Given the description of an element on the screen output the (x, y) to click on. 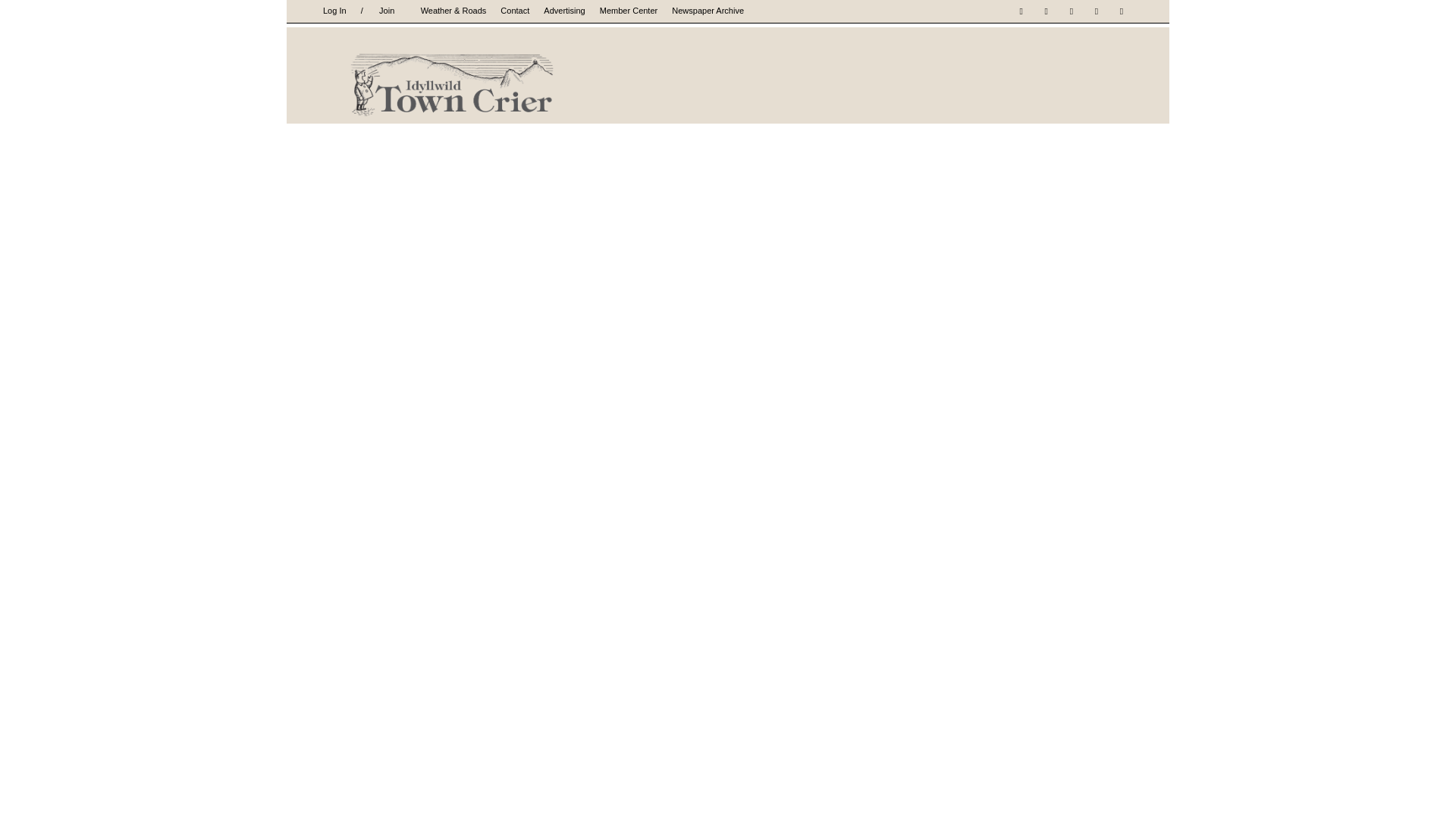
Facebook (1021, 10)
Youtube (1120, 10)
Twitter (1096, 10)
Linkedin (1071, 10)
